Given the description of an element on the screen output the (x, y) to click on. 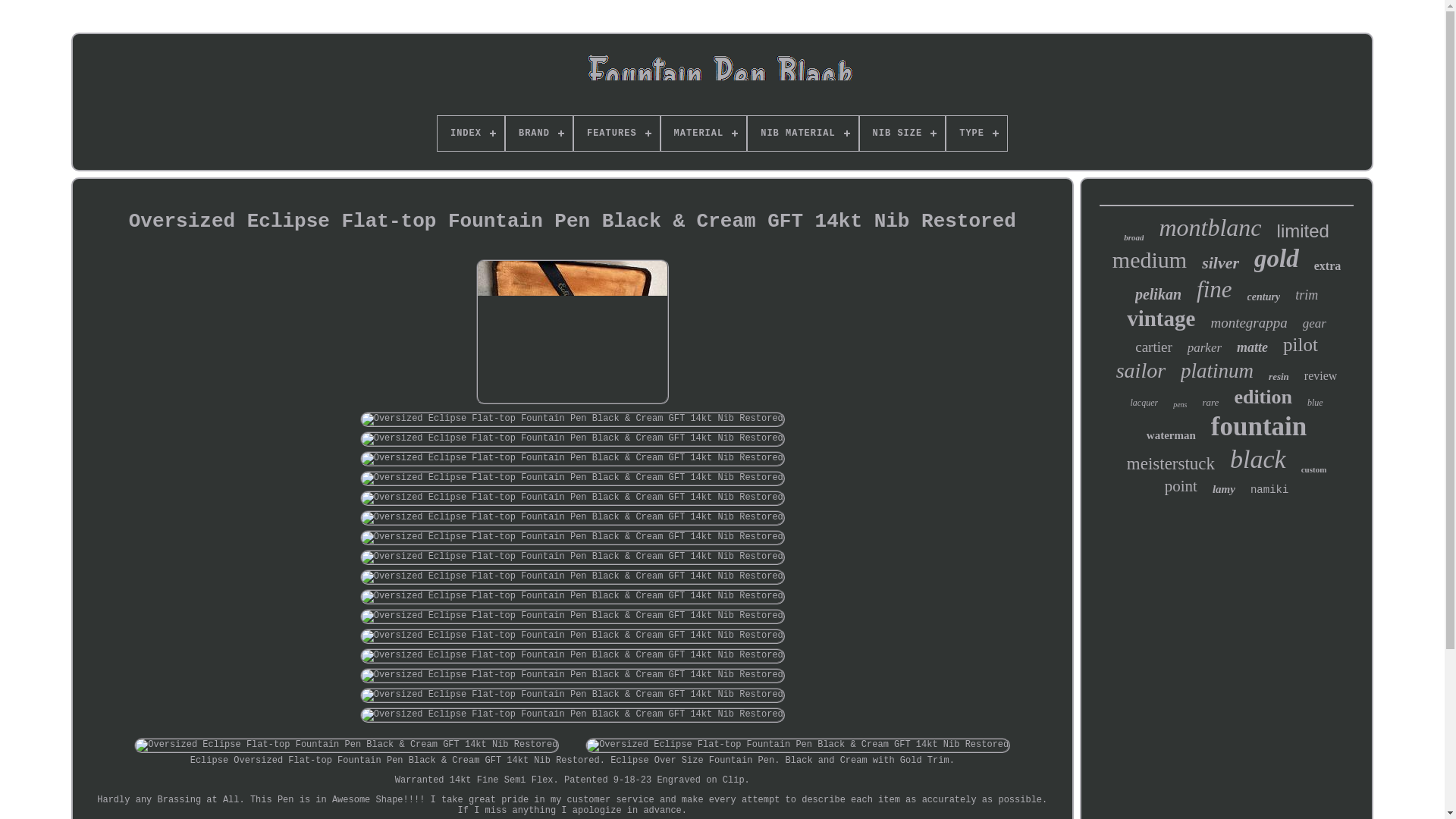
INDEX (470, 133)
BRAND (538, 133)
FEATURES (616, 133)
